Given the description of an element on the screen output the (x, y) to click on. 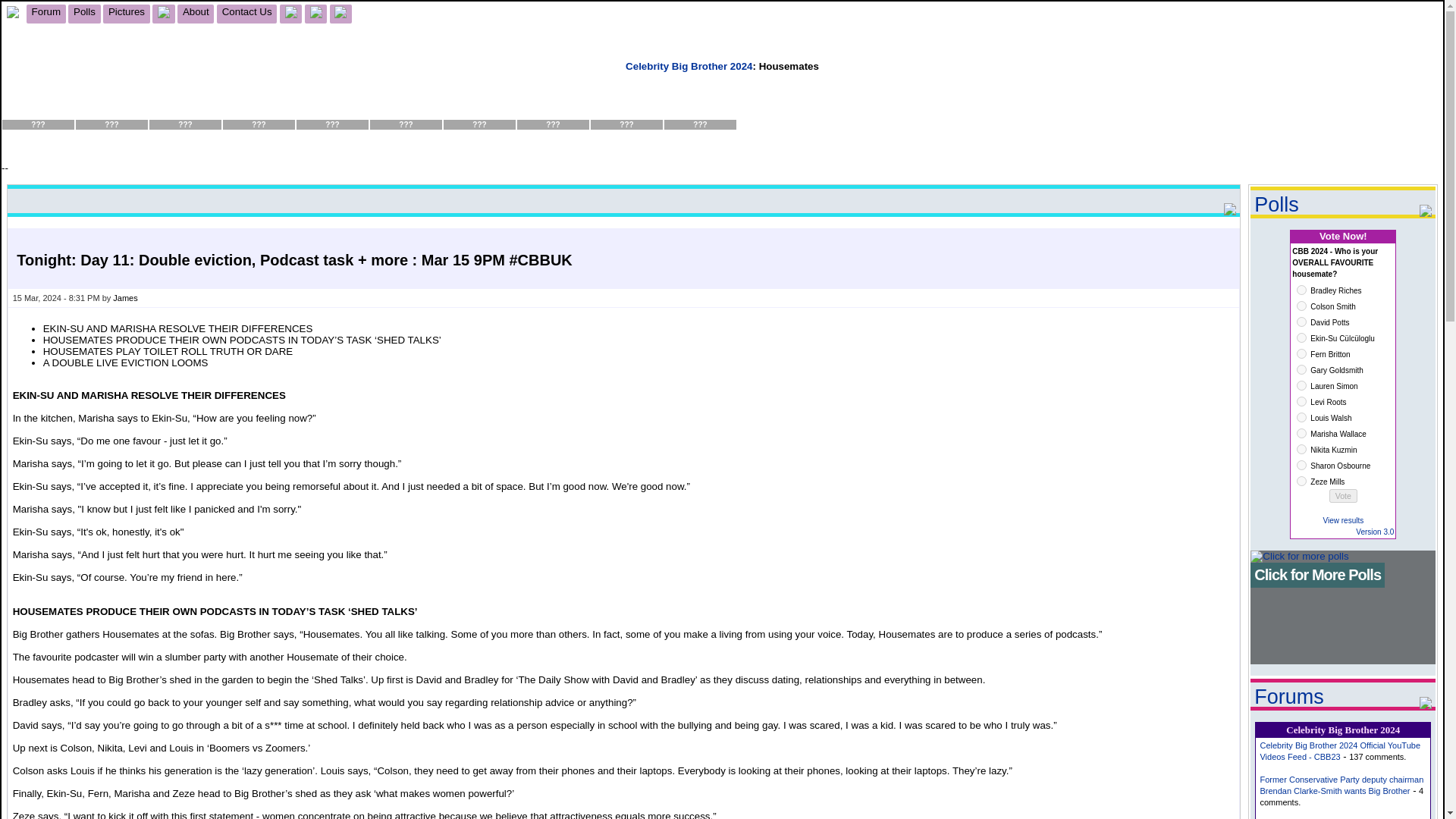
??? (626, 111)
??? (552, 111)
13 (1301, 480)
James (124, 297)
4 (1301, 337)
8 (1301, 401)
??? (405, 111)
??? (38, 111)
3 (1301, 321)
2 (1301, 306)
